Given the description of an element on the screen output the (x, y) to click on. 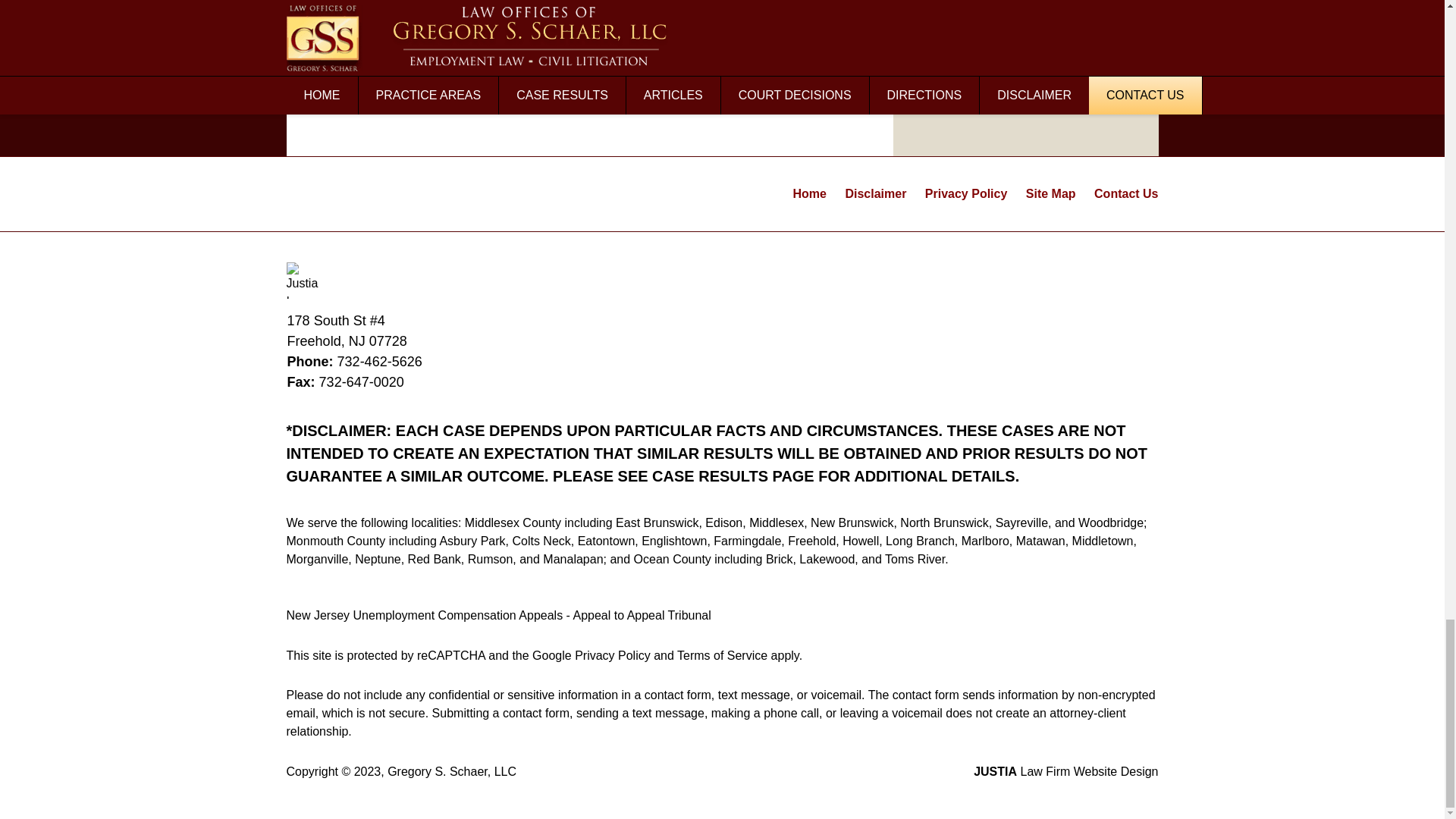
Justia (304, 280)
